Given the description of an element on the screen output the (x, y) to click on. 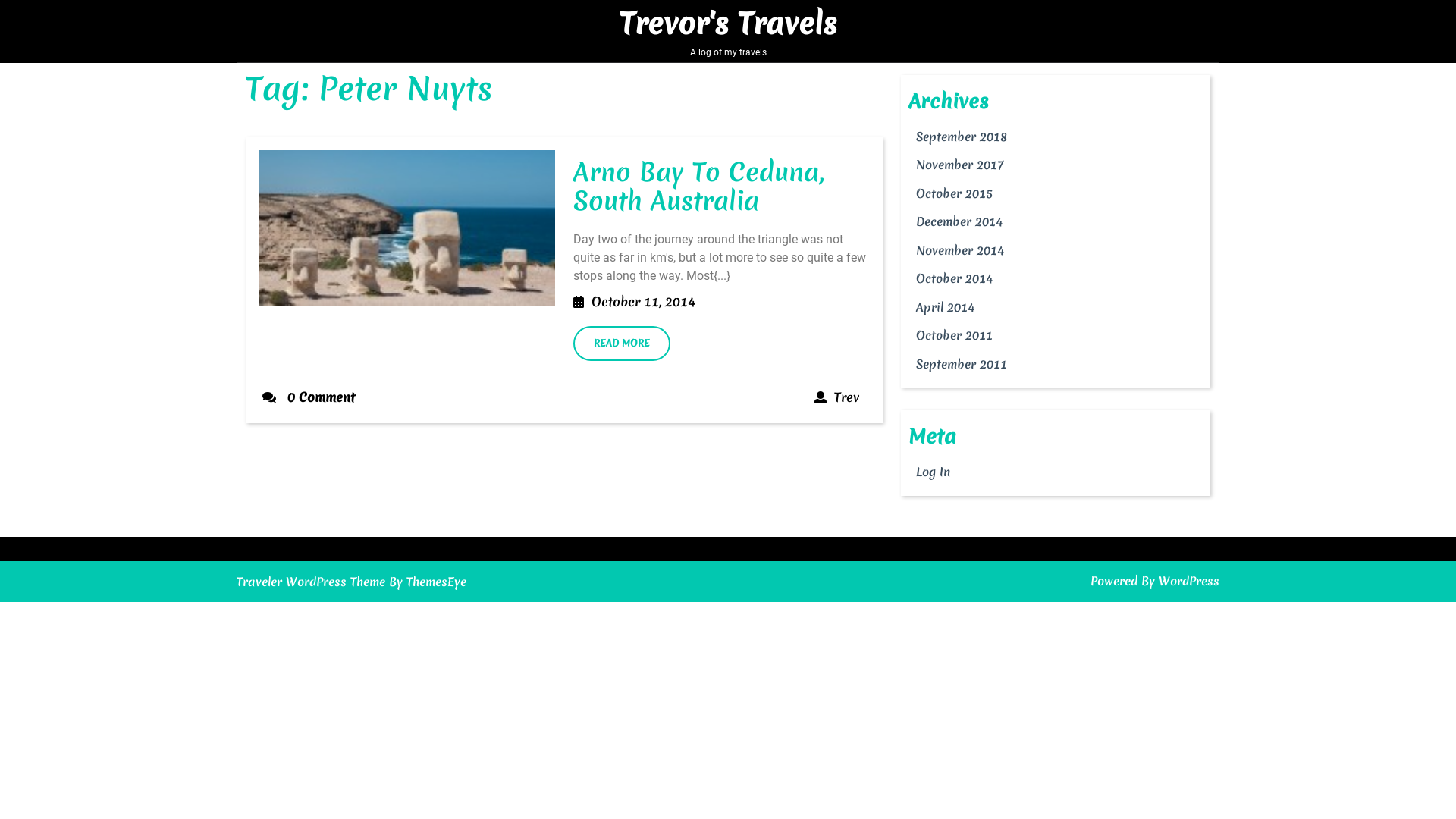
September 2011 Element type: text (961, 363)
Trev
Trev Element type: text (846, 396)
April 2014 Element type: text (945, 306)
October 2014 Element type: text (954, 278)
October 2015 Element type: text (954, 192)
Trevor'S Travels Element type: text (727, 23)
Log In Element type: text (933, 471)
September 2018 Element type: text (961, 136)
October 11, 2014
October 11, 2014 Element type: text (643, 301)
Traveler WordPress Theme Element type: text (310, 581)
October 2011 Element type: text (954, 335)
December 2014 Element type: text (959, 221)
READ MORE
READ MORE Element type: text (621, 343)
November 2014 Element type: text (960, 250)
November 2017 Element type: text (960, 164)
